Given the description of an element on the screen output the (x, y) to click on. 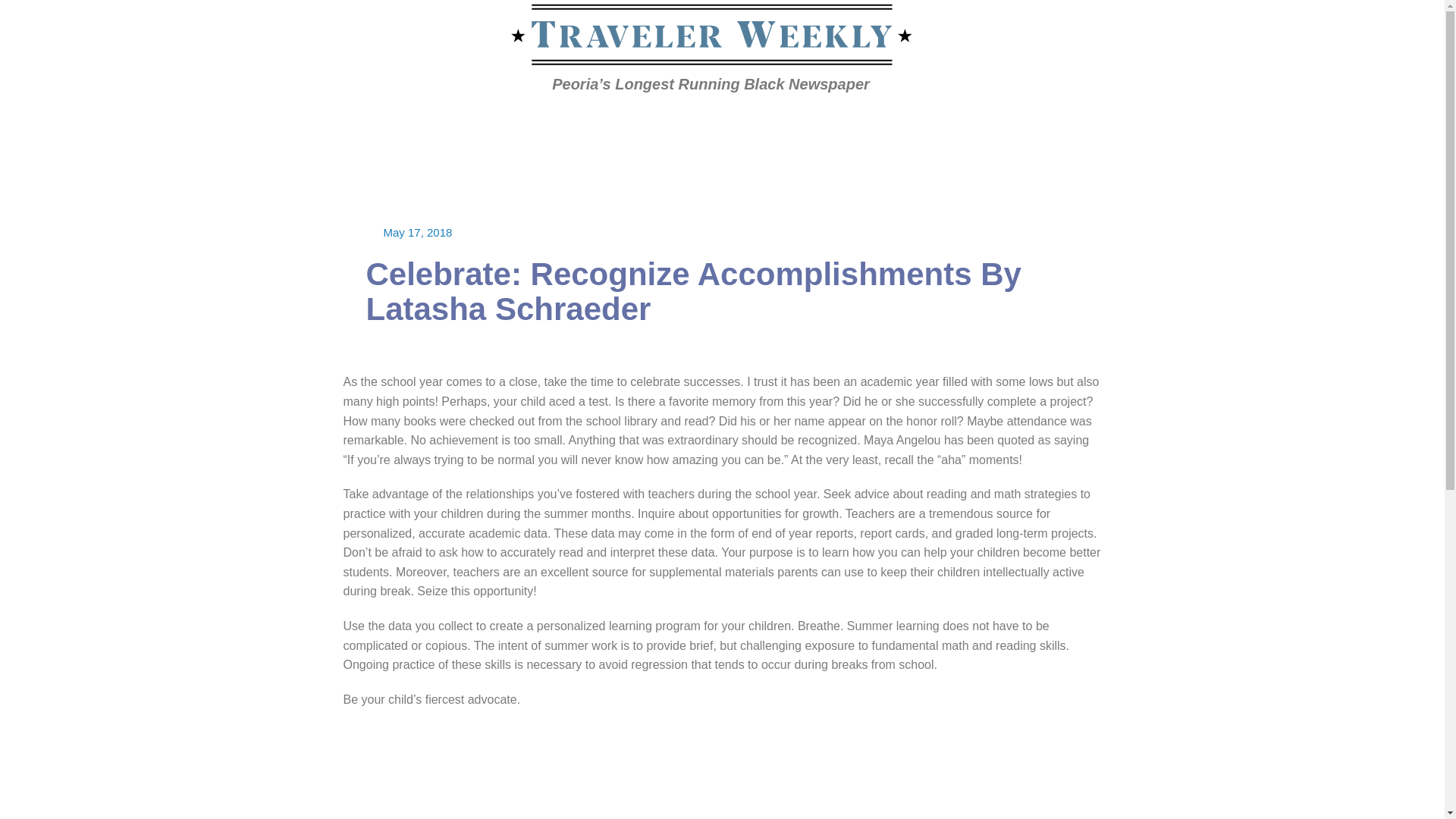
20180501 (331, 123)
Home (284, 123)
Previous (1059, 123)
May 17, 2018 (418, 232)
20180501 (331, 123)
Home (284, 123)
Next (1135, 123)
